Given the description of an element on the screen output the (x, y) to click on. 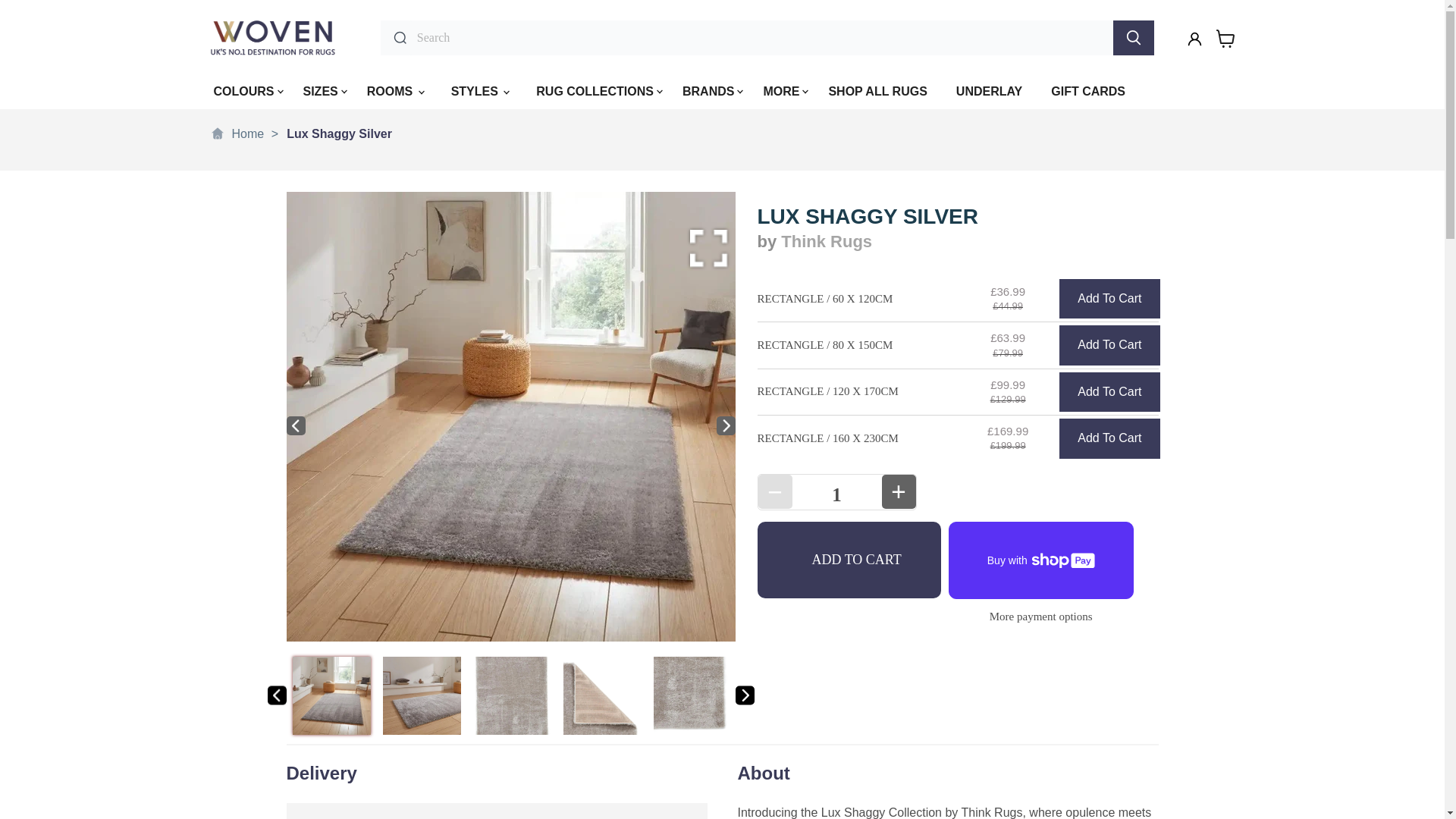
Think Rugs (826, 240)
View cart (1224, 38)
1 (836, 494)
COLOURS (244, 92)
SIZES (319, 92)
